Given the description of an element on the screen output the (x, y) to click on. 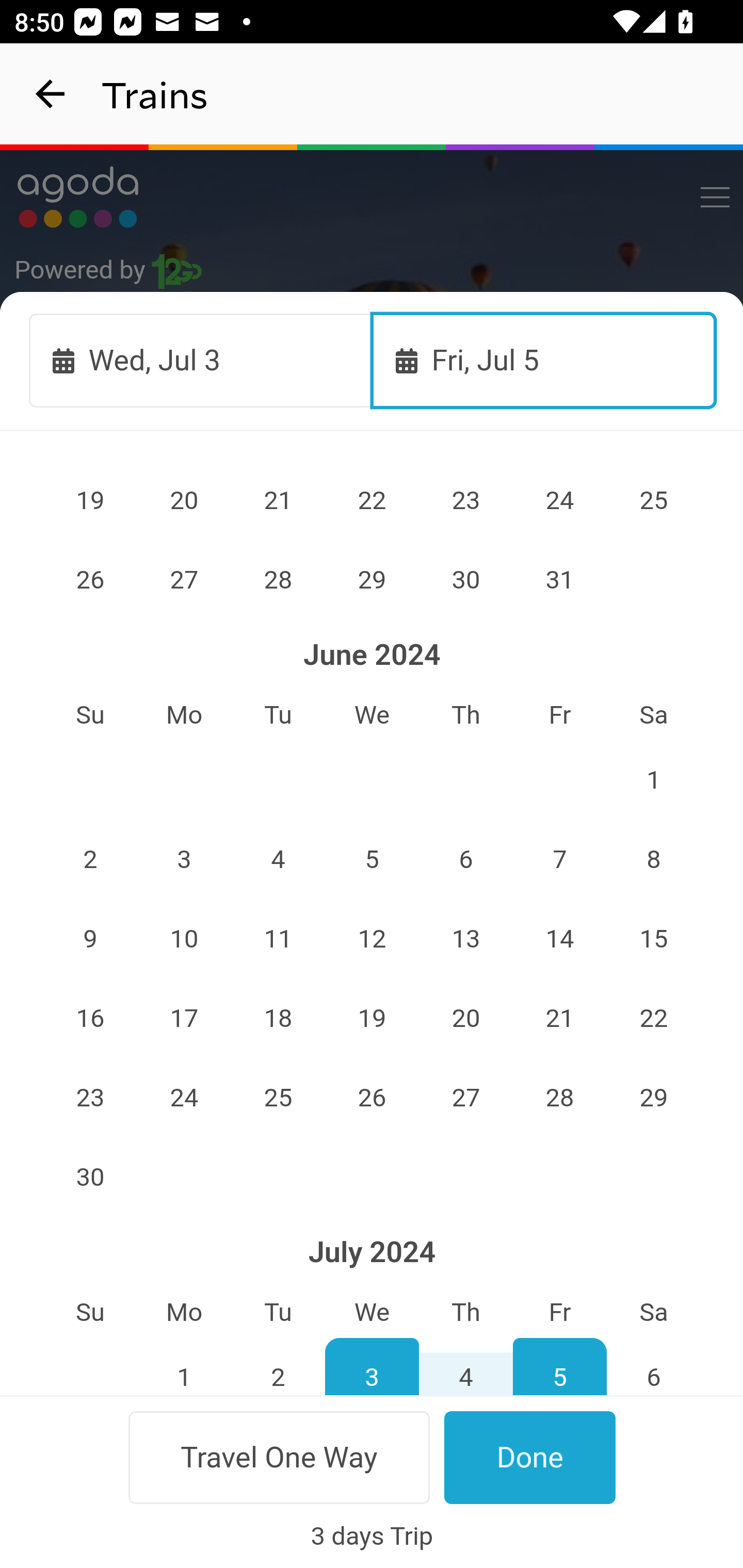
navigation_button (50, 93)
Wed, Jul 3 (200, 359)
Fri, Jul 5 (544, 359)
19 (90, 500)
20 (184, 500)
21 (278, 500)
22 (372, 500)
23 (465, 500)
24 (559, 500)
25 (654, 500)
26 (90, 579)
27 (184, 579)
28 (278, 579)
29 (372, 579)
30 (465, 579)
31 (559, 579)
1 (654, 779)
2 (90, 859)
3 (184, 859)
4 (278, 859)
5 (372, 859)
6 (465, 859)
7 (559, 859)
8 (654, 859)
9 (90, 938)
10 (184, 938)
11 (278, 938)
12 (372, 938)
13 (465, 938)
14 (559, 938)
15 (654, 938)
16 (90, 1017)
17 (184, 1017)
18 (278, 1017)
19 (372, 1017)
20 (465, 1017)
21 (559, 1017)
22 (654, 1017)
23 (90, 1097)
24 (184, 1097)
25 (278, 1097)
26 (372, 1097)
27 (465, 1097)
28 (559, 1097)
29 (654, 1097)
30 (90, 1176)
1 (184, 1365)
2 (278, 1365)
3 (372, 1365)
4 (465, 1365)
5 (559, 1365)
6 (654, 1365)
Travel One Way (278, 1457)
Done (530, 1457)
